Given the description of an element on the screen output the (x, y) to click on. 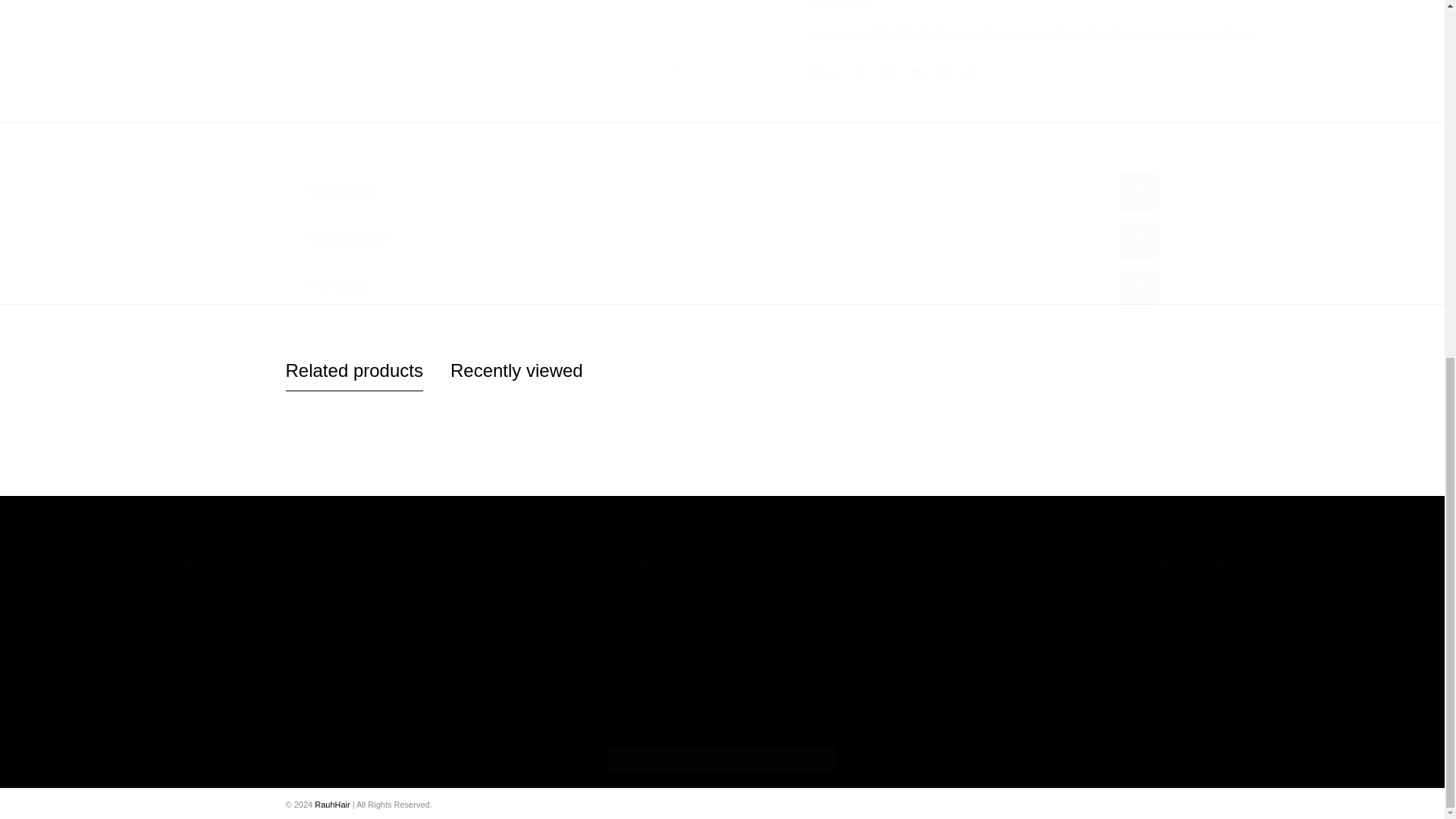
Share on Telegram (917, 69)
Share on Facebook (861, 69)
RAUH Couture (935, 30)
Share on Email (943, 69)
Straight (1004, 30)
Vietnamese (1187, 30)
Ask a Question (841, 1)
Share on Twitter (889, 69)
Share on WhatsApp (970, 69)
Wigs (1238, 30)
